Given the description of an element on the screen output the (x, y) to click on. 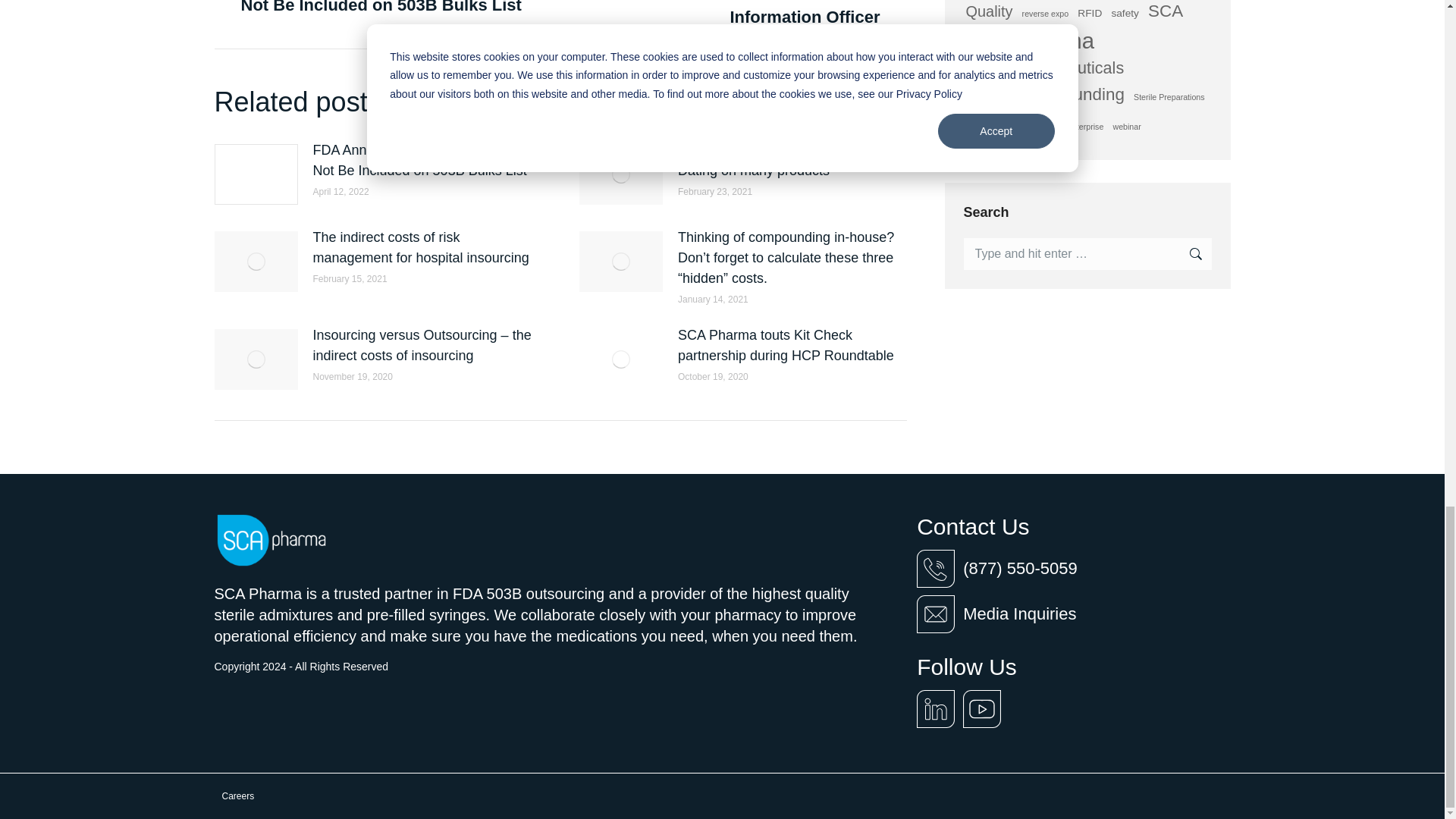
Go! (1187, 254)
Go! (1187, 254)
